Given the description of an element on the screen output the (x, y) to click on. 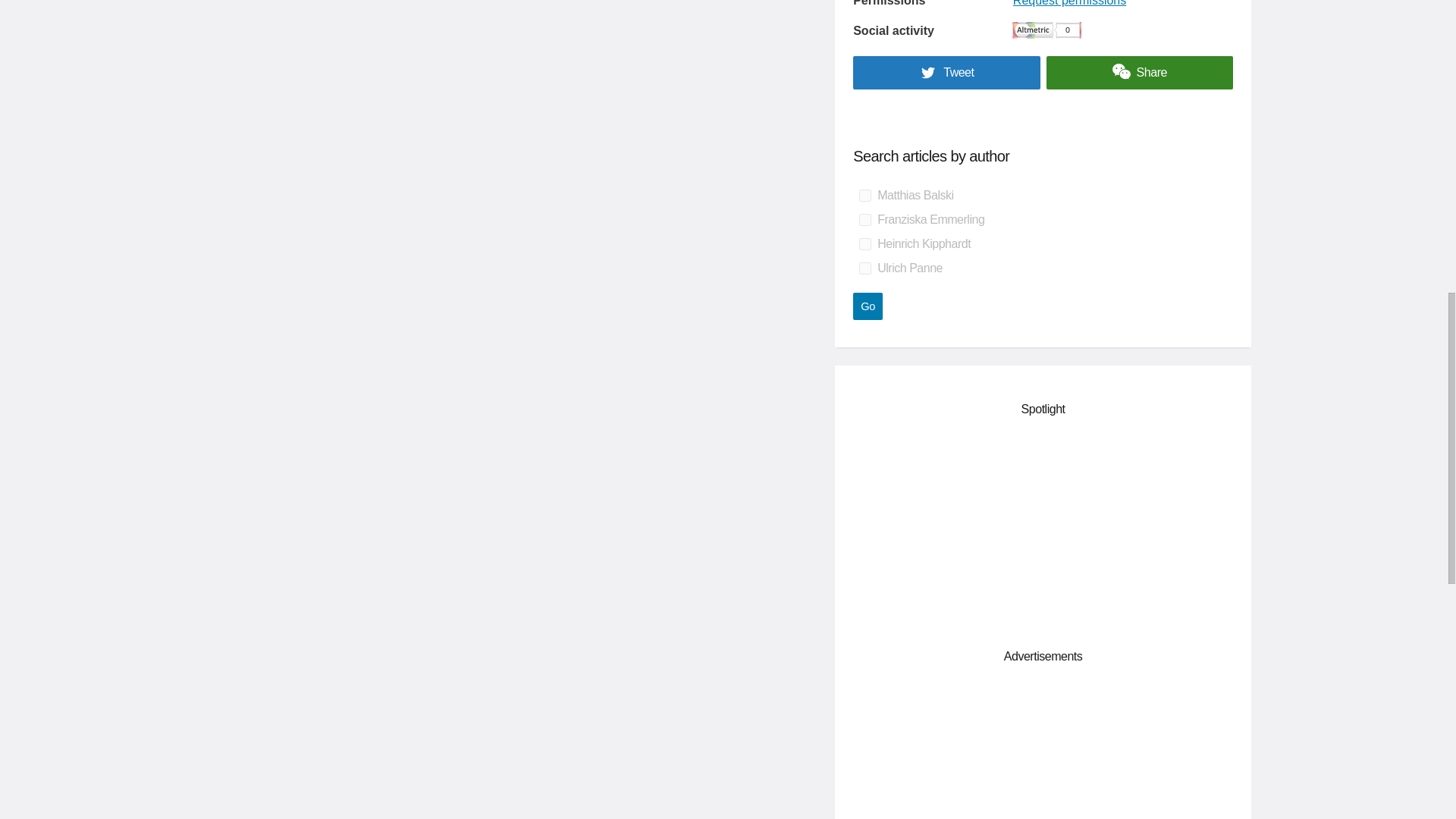
on (864, 268)
3rd party ad content (1043, 750)
Request permissions (1068, 4)
on (864, 195)
Go (867, 306)
3rd party ad content (1043, 529)
Go (867, 306)
on (864, 219)
on (864, 244)
